Given the description of an element on the screen output the (x, y) to click on. 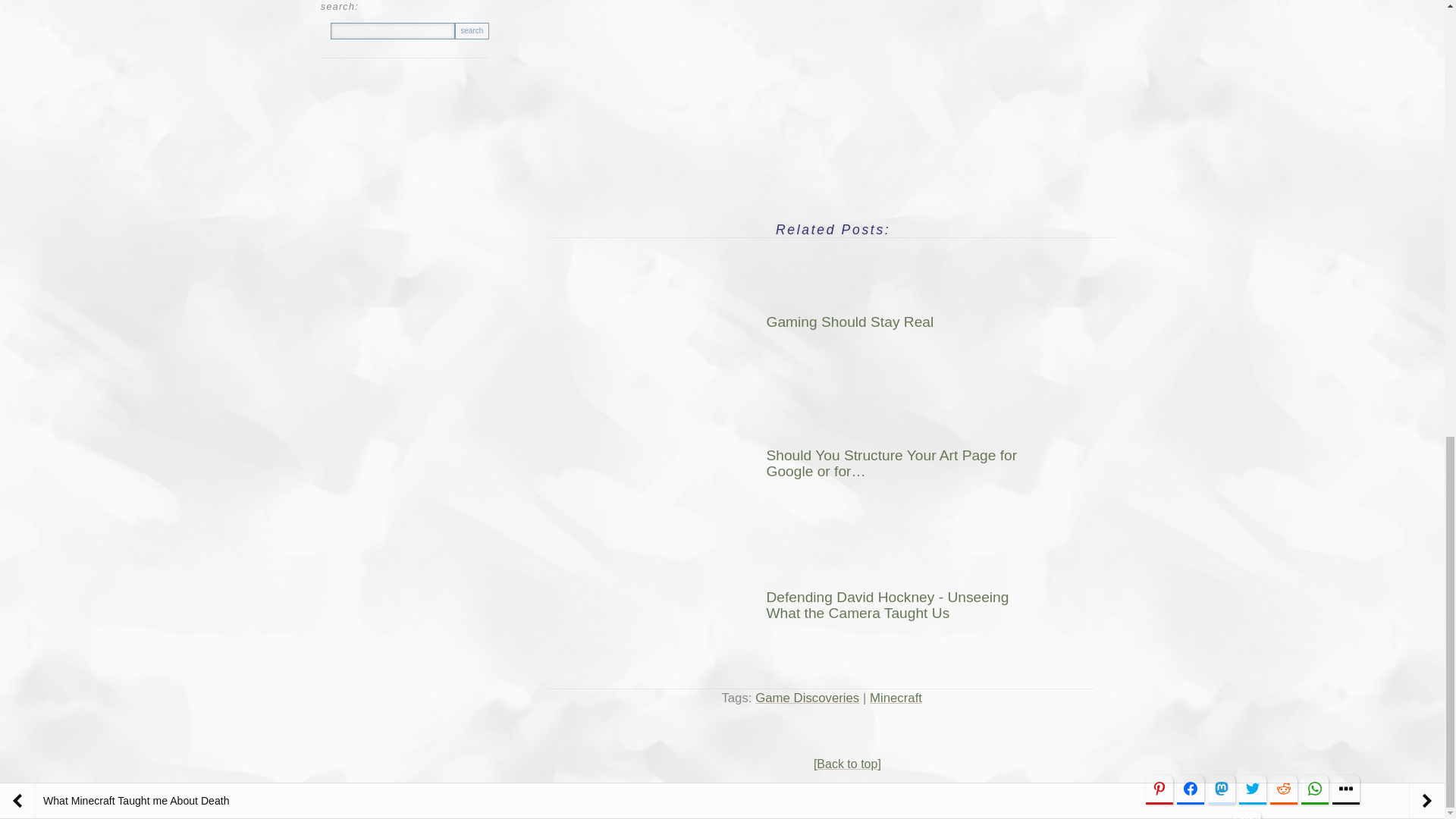
Defending David Hockney - Unseeing What the Camera Taught Us (839, 605)
Defending David Hockney - Unseeing What the Camera Taught Us (697, 598)
YouTube video player (832, 97)
Gaming Should Stay Real (697, 314)
search (471, 30)
Minecraft (895, 698)
Game Discoveries (807, 698)
Gaming Should Stay Real (839, 321)
